Given the description of an element on the screen output the (x, y) to click on. 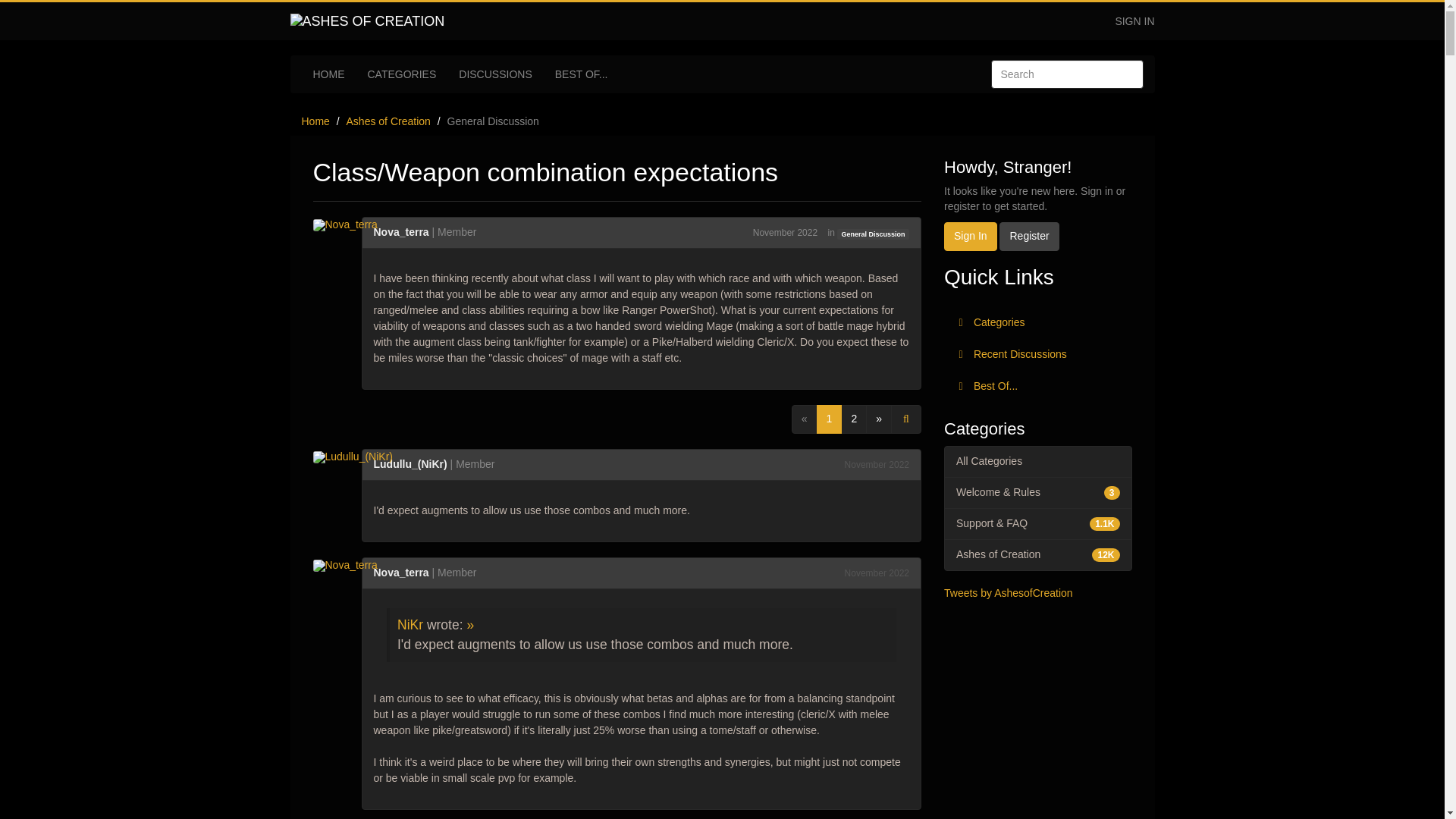
1 (829, 419)
HOME (328, 74)
November 16, 2022 7:39PM (784, 232)
SIGN IN (1134, 21)
BEST OF... (581, 74)
2 (853, 419)
November 2022 (876, 464)
CATEGORIES (402, 74)
NiKr (410, 624)
November 2022 (876, 573)
